Given the description of an element on the screen output the (x, y) to click on. 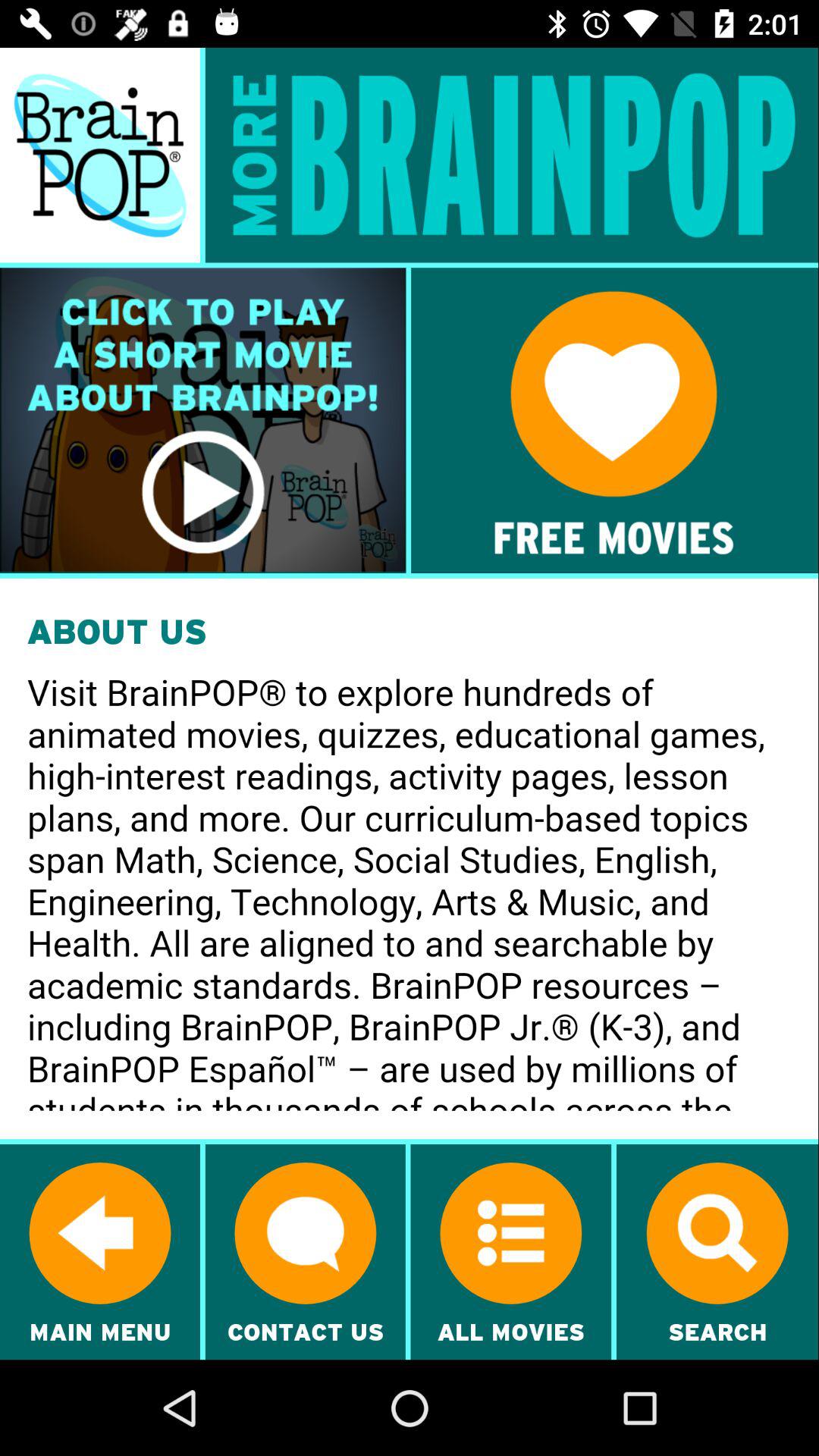
go to main page of page (100, 154)
